Given the description of an element on the screen output the (x, y) to click on. 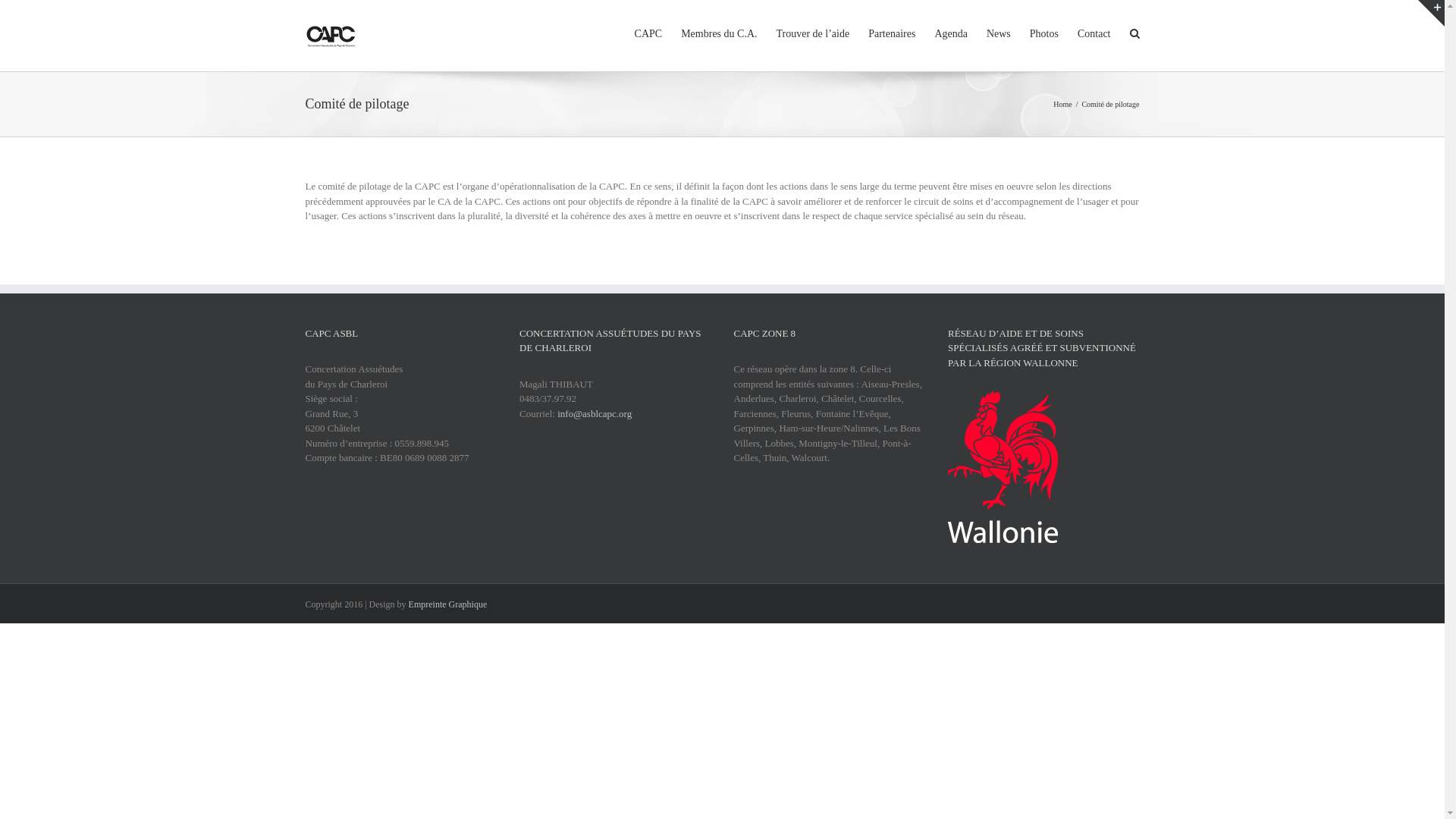
Contact Element type: text (1093, 32)
Membres du C.A. Element type: text (718, 32)
Partenaires Element type: text (891, 32)
info@asblcapc.org Element type: text (594, 413)
Agenda Element type: text (950, 32)
Empreinte Graphique Element type: text (447, 604)
CAPC Element type: text (648, 32)
News Element type: text (998, 32)
Home Element type: text (1062, 104)
Photos Element type: text (1043, 32)
